Given the description of an element on the screen output the (x, y) to click on. 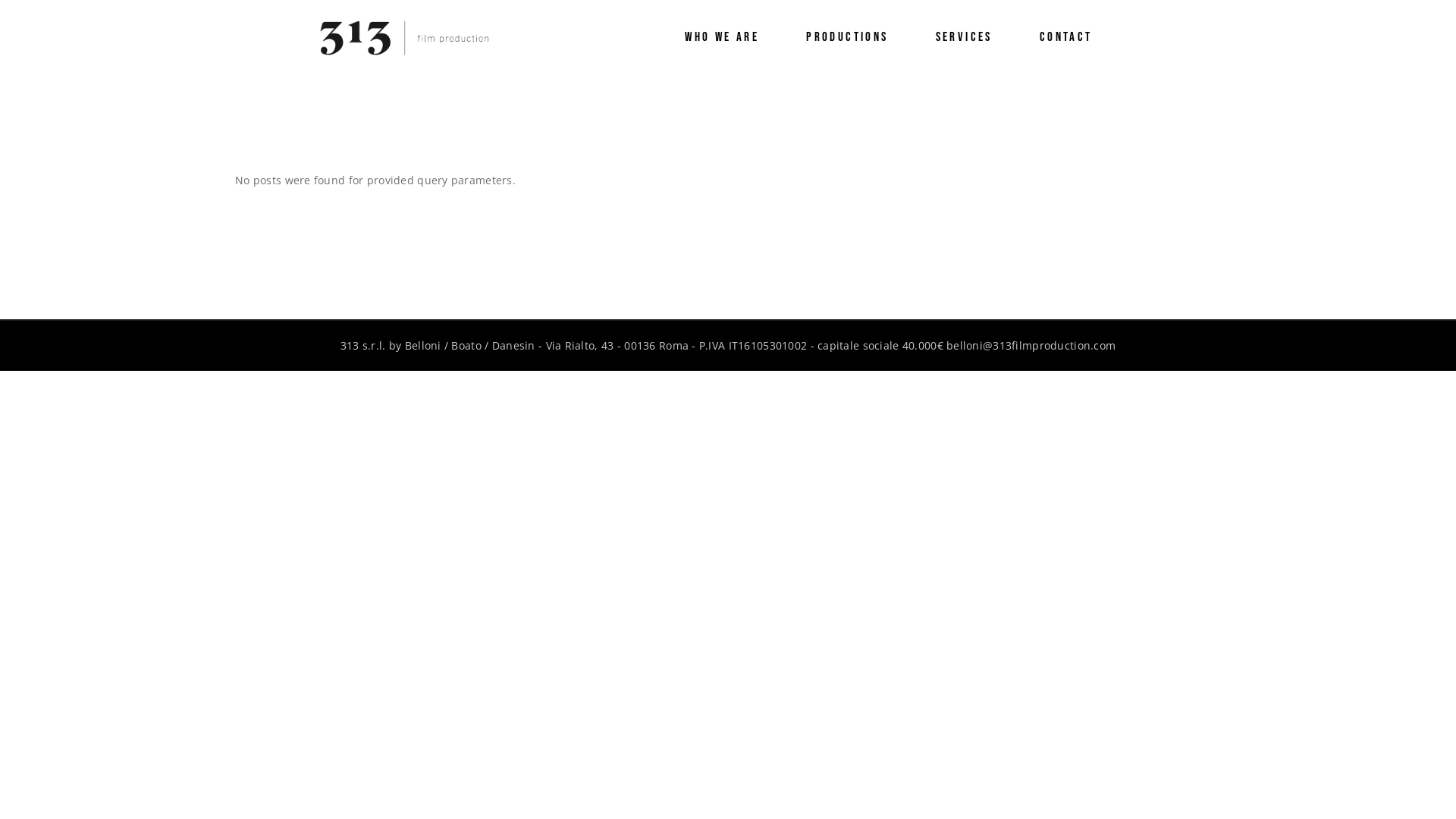
WHO WE ARE Element type: text (721, 37)
CONTACT Element type: text (1065, 37)
PRODUCTIONS Element type: text (847, 37)
belloni@313filmproduction.com Element type: text (1030, 345)
SERVICES Element type: text (963, 37)
